Given the description of an element on the screen output the (x, y) to click on. 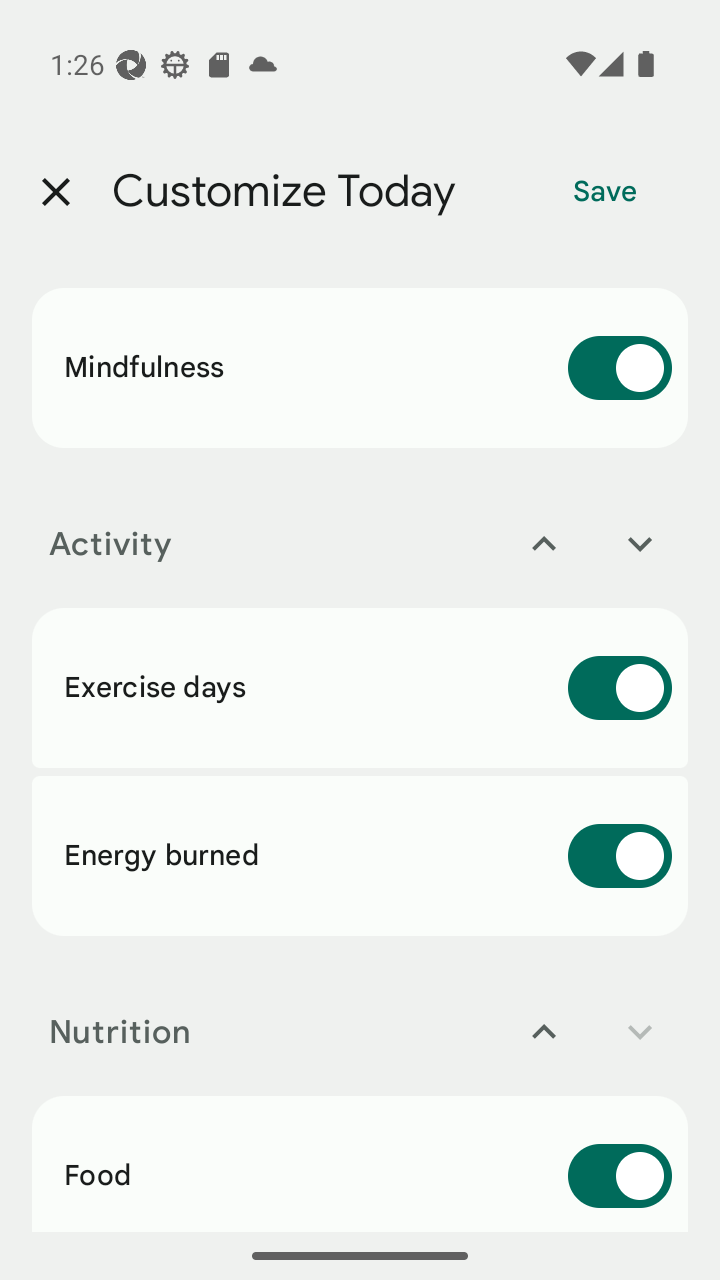
Close (55, 191)
Save (605, 191)
Mindfulness (359, 368)
Move Activity up (543, 543)
Move Activity down (639, 543)
Exercise days (359, 688)
Energy burned (359, 855)
Move Nutrition up (543, 1032)
Move Nutrition down (639, 1032)
Food (359, 1163)
